Given the description of an element on the screen output the (x, y) to click on. 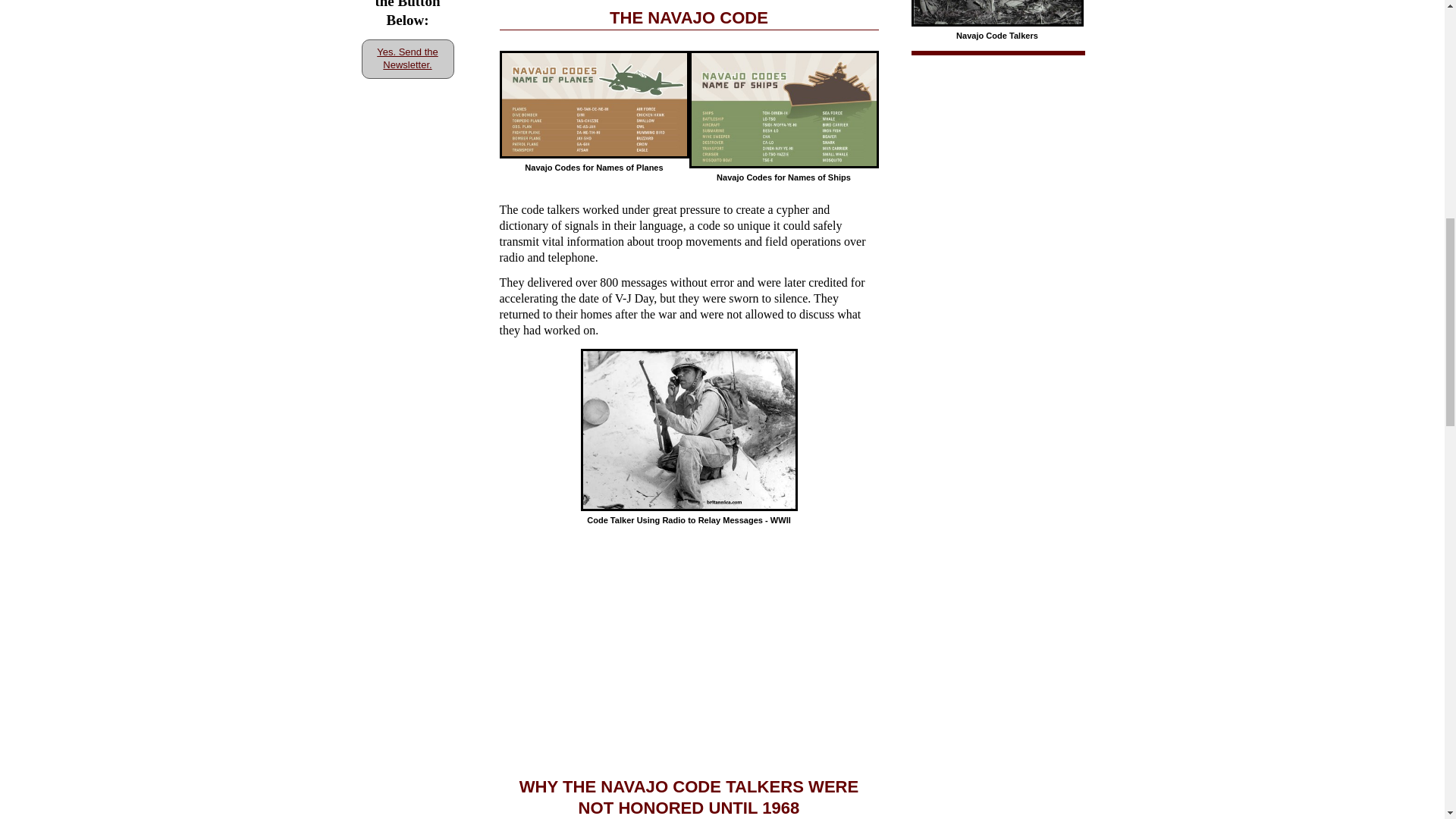
Navajo Codes for Names of Planes (593, 104)
Code Talker Using Radio to Relay Messages - WWII (688, 429)
Navajo Codes for Names of Ships (782, 109)
Navajo Code Talkers (997, 13)
